Given the description of an element on the screen output the (x, y) to click on. 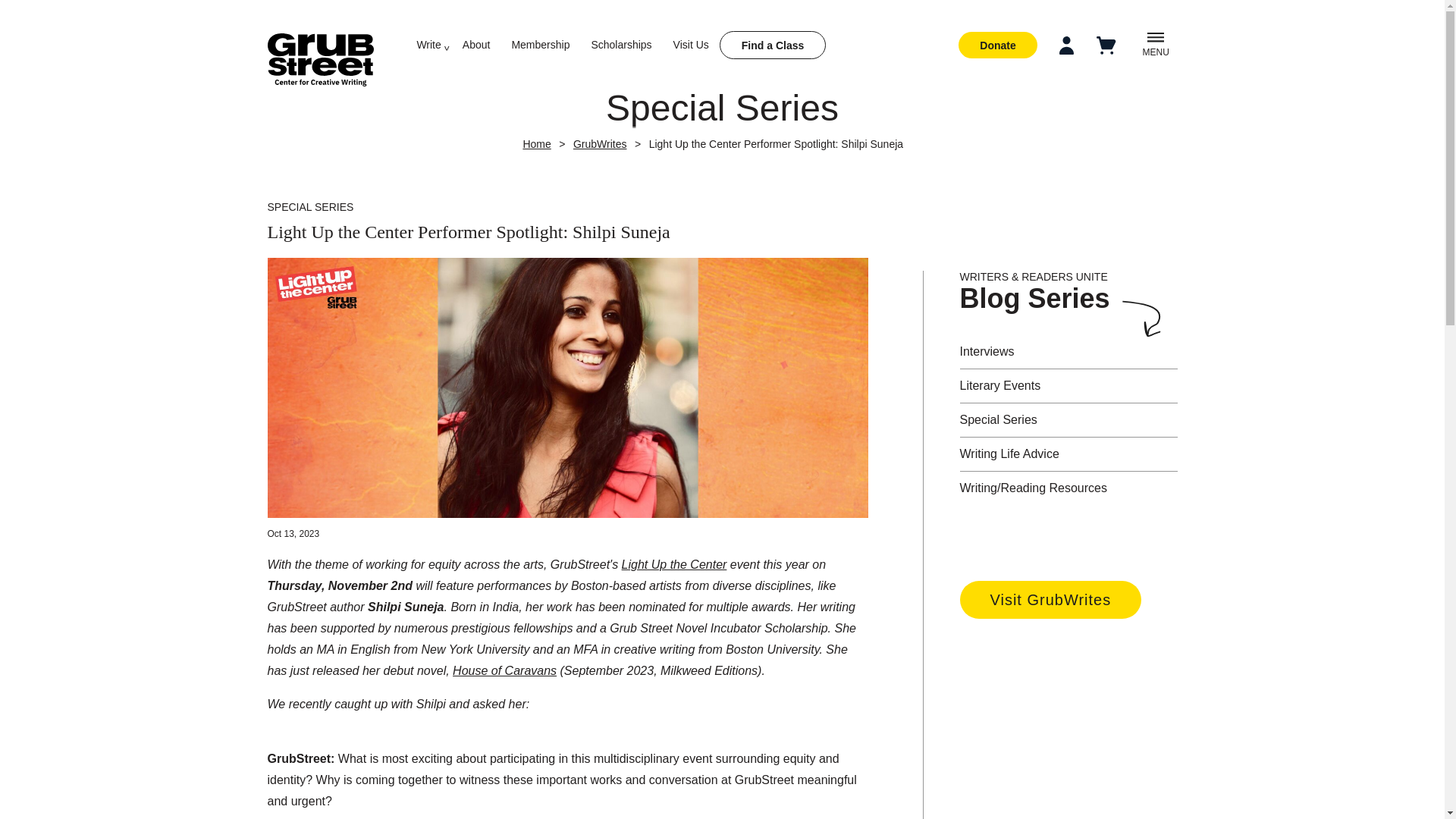
About (476, 44)
Scholarships (620, 44)
Donate (997, 44)
Find a Class (772, 44)
Visit Us (690, 44)
Membership (540, 44)
Write (428, 44)
